Given the description of an element on the screen output the (x, y) to click on. 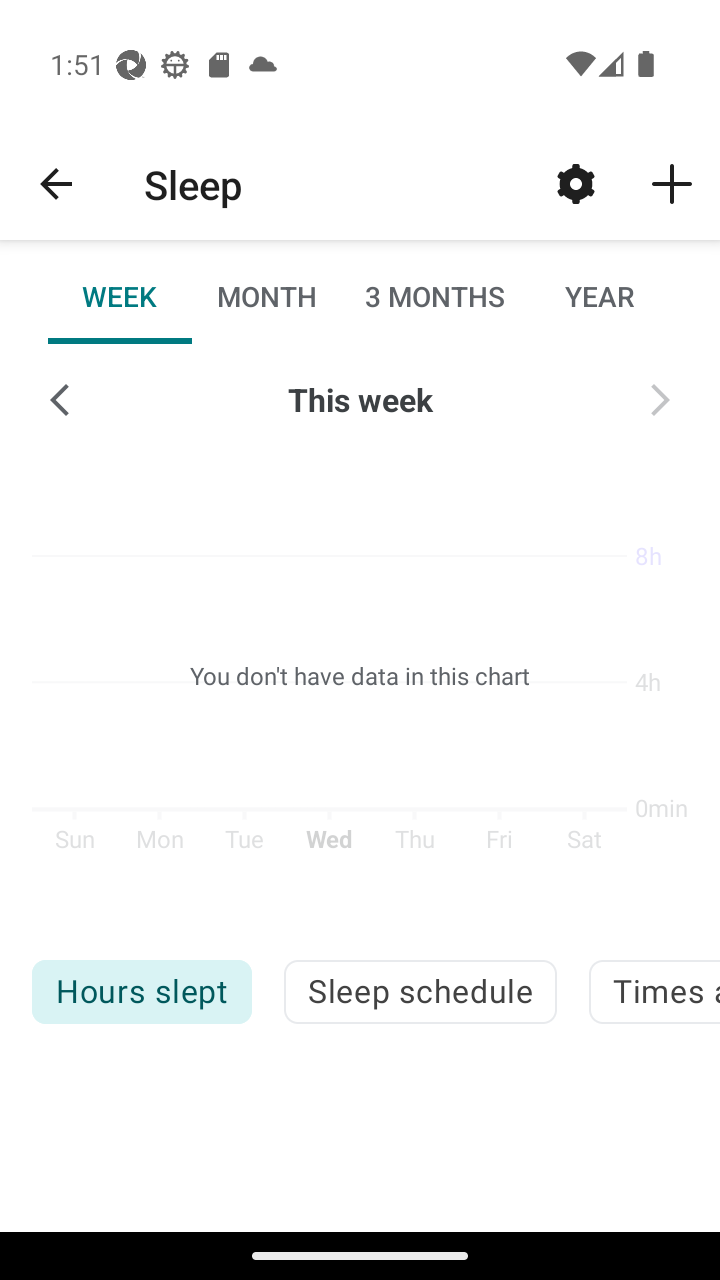
Navigate up (56, 184)
Adjust your goal (575, 183)
Tap to track sleep or
 log a past record (672, 183)
MONTH (265, 296)
3 MONTHS (433, 296)
YEAR (599, 296)
Previous (60, 399)
Next (659, 399)
Hours slept (141, 991)
Sleep schedule (420, 991)
Times awakened (654, 991)
